Given the description of an element on the screen output the (x, y) to click on. 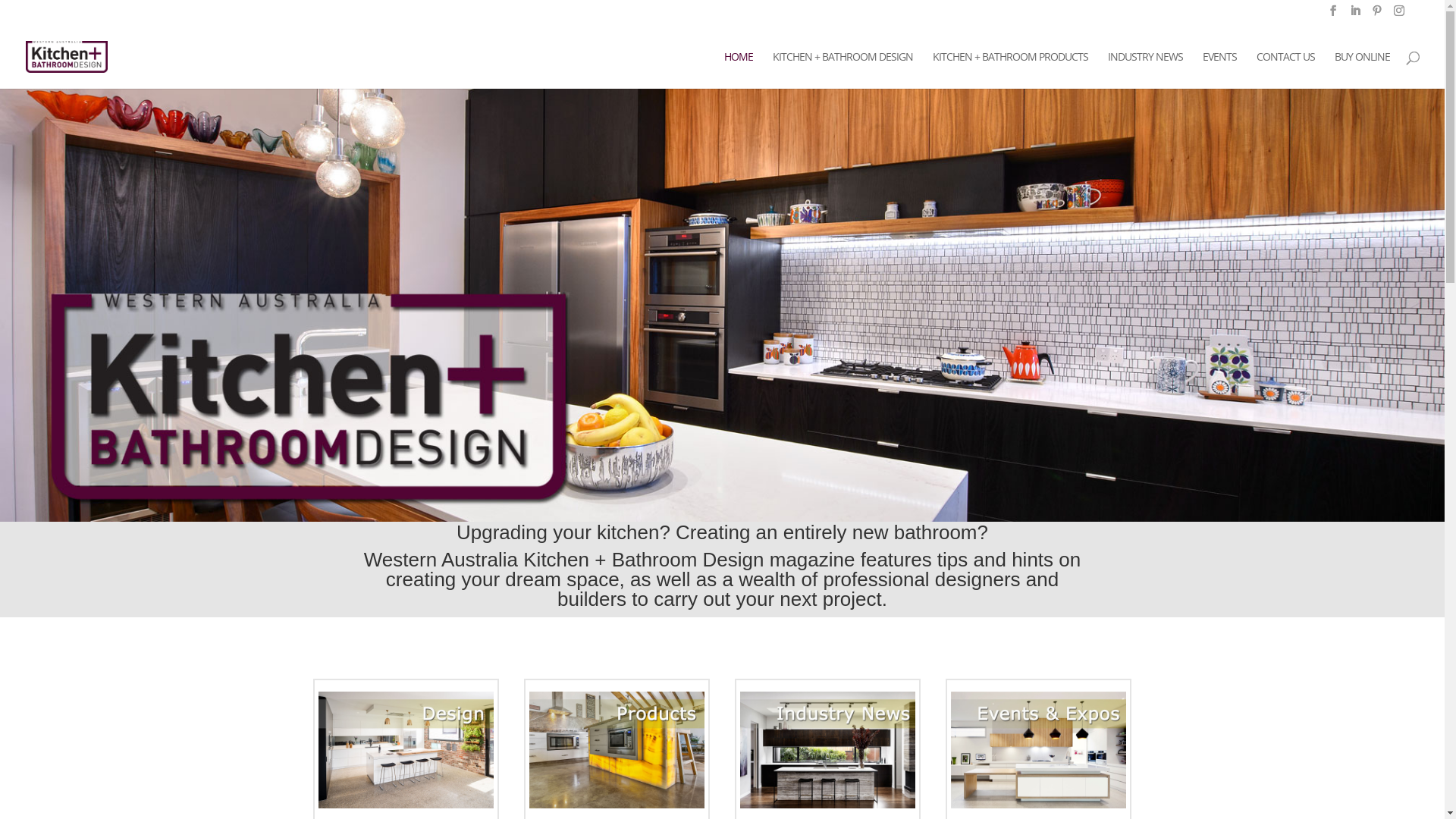
KITCHEN + BATHROOM DESIGN Element type: text (842, 69)
INDUSTRY NEWS Element type: text (1145, 69)
BUY ONLINE Element type: text (1362, 69)
KITCHEN + BATHROOM PRODUCTS Element type: text (1010, 69)
EVENTS Element type: text (1219, 69)
HOME Element type: text (738, 69)
CONTACT US Element type: text (1285, 69)
